Given the description of an element on the screen output the (x, y) to click on. 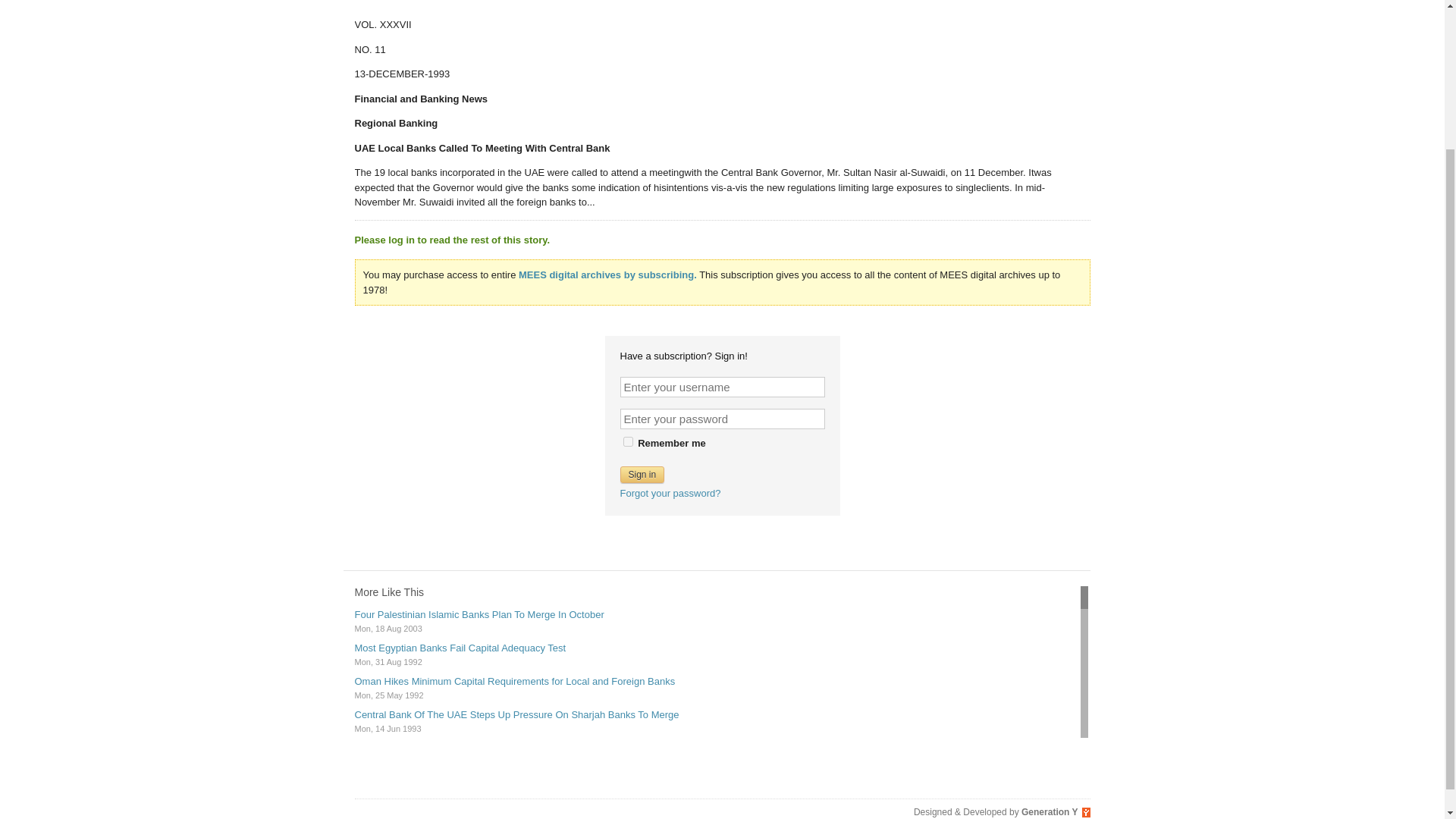
Forgot your password? (670, 491)
Sign in (642, 474)
Sign in (642, 474)
MEES digital archives by subscribing. (607, 274)
Most Egyptian Banks Fail Capital Adequacy Test (460, 647)
Four Palestinian Islamic Banks Plan To Merge In October (479, 614)
1 (628, 441)
